Given the description of an element on the screen output the (x, y) to click on. 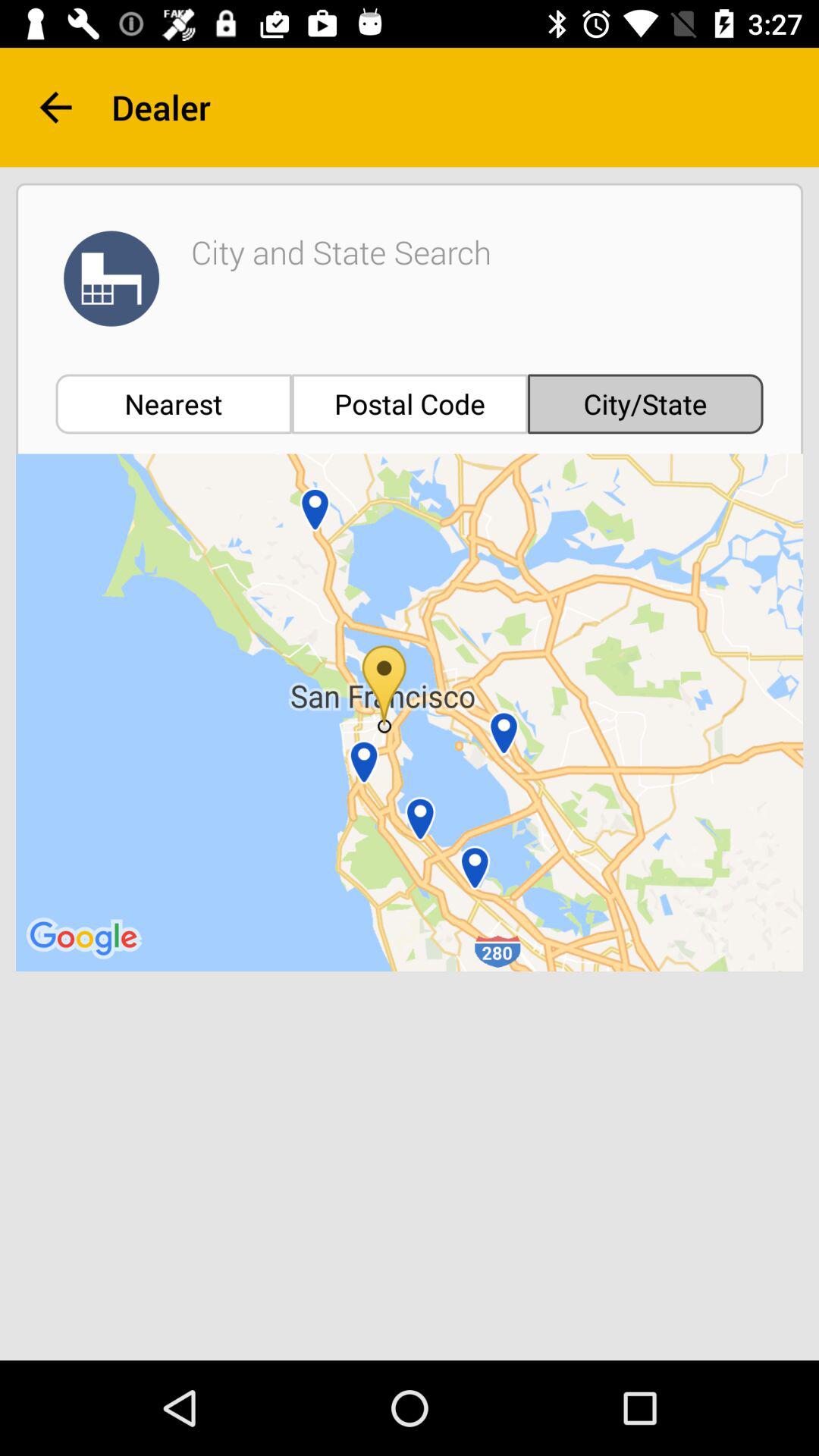
open item below the city and state item (409, 403)
